Given the description of an element on the screen output the (x, y) to click on. 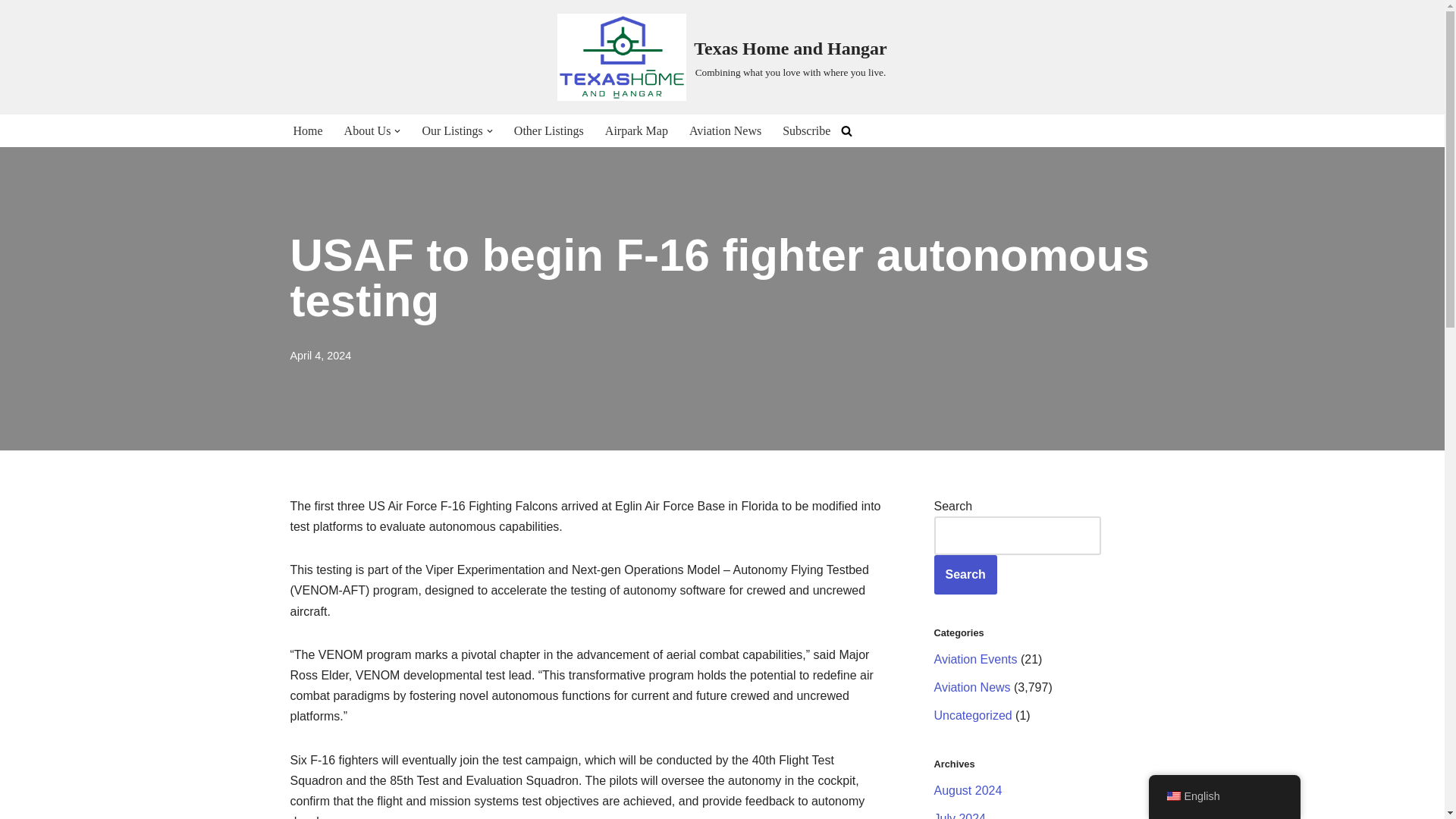
Other Listings (548, 130)
Home (306, 130)
English (1172, 795)
Our Listings (451, 130)
About Us (367, 130)
Subscribe (806, 130)
Skip to content (11, 31)
Aviation News (724, 130)
Airpark Map (636, 130)
